Given the description of an element on the screen output the (x, y) to click on. 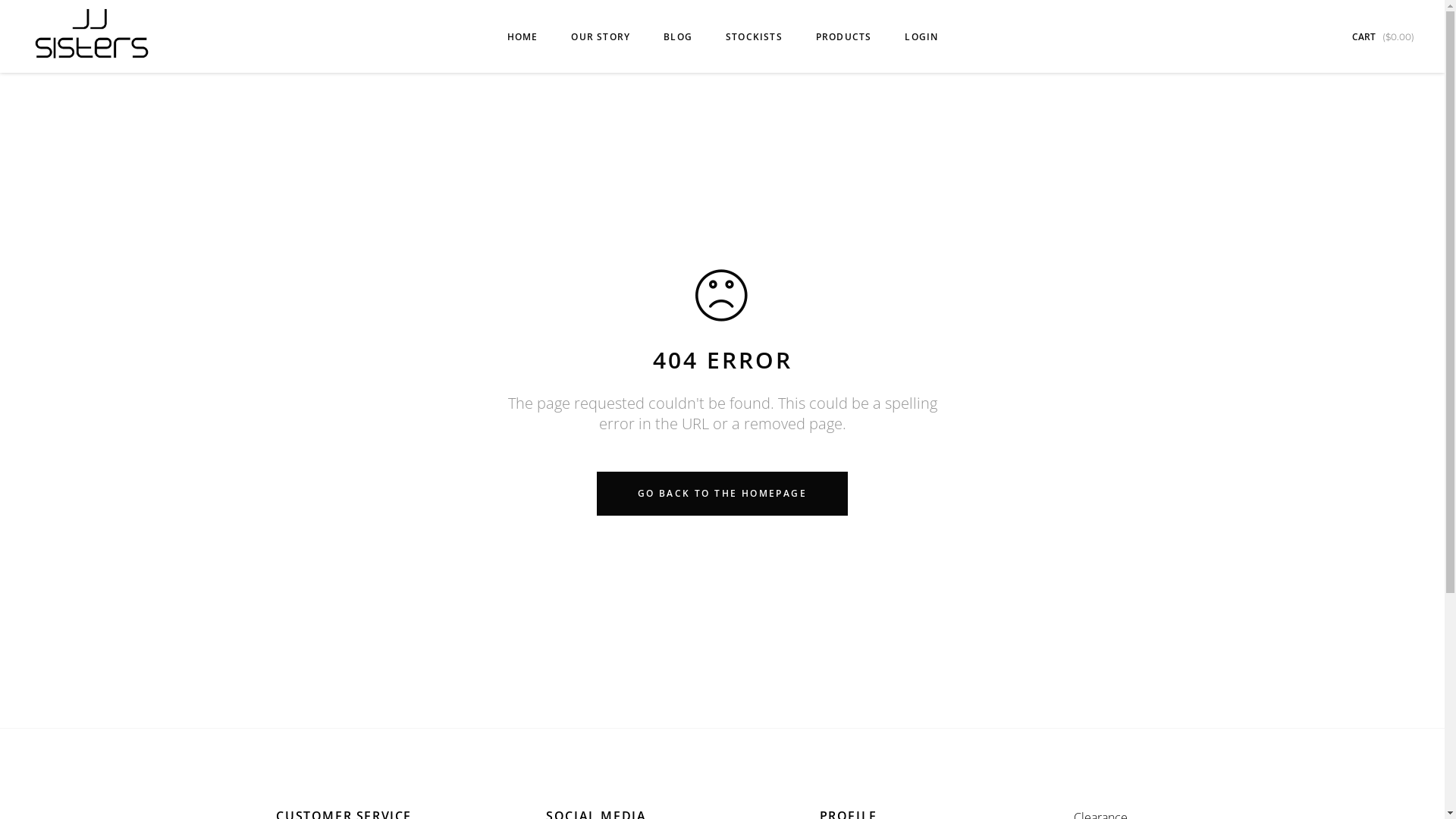
BLOG Element type: text (677, 36)
OUR STORY Element type: text (600, 36)
GO BACK TO THE HOMEPAGE Element type: text (721, 493)
PRODUCTS Element type: text (843, 36)
LOGIN Element type: text (921, 36)
HOME Element type: text (522, 36)
STOCKISTS Element type: text (754, 36)
CART
($0.00) Element type: text (1383, 36)
